Given the description of an element on the screen output the (x, y) to click on. 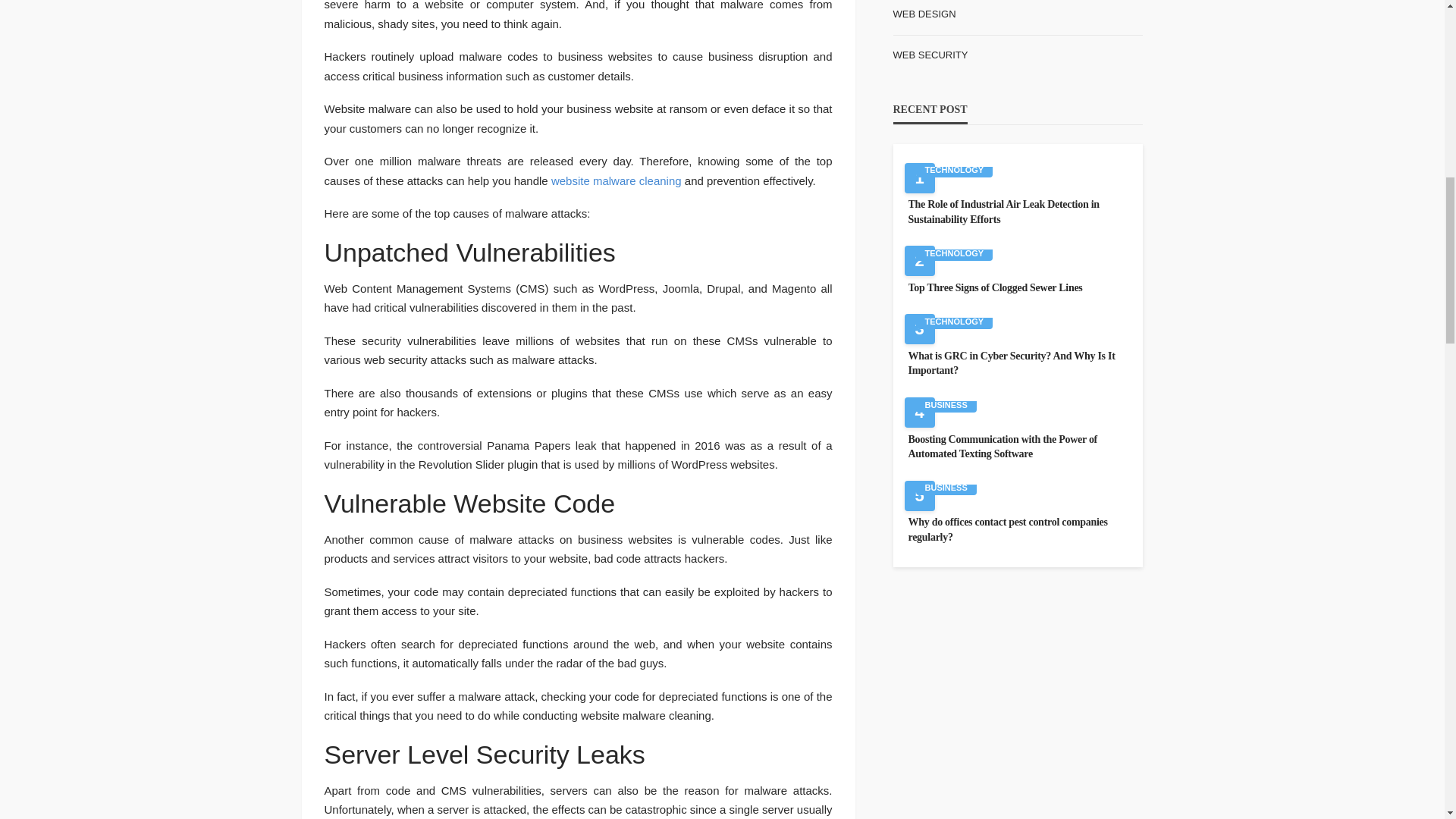
website malware cleaning (616, 180)
